Given the description of an element on the screen output the (x, y) to click on. 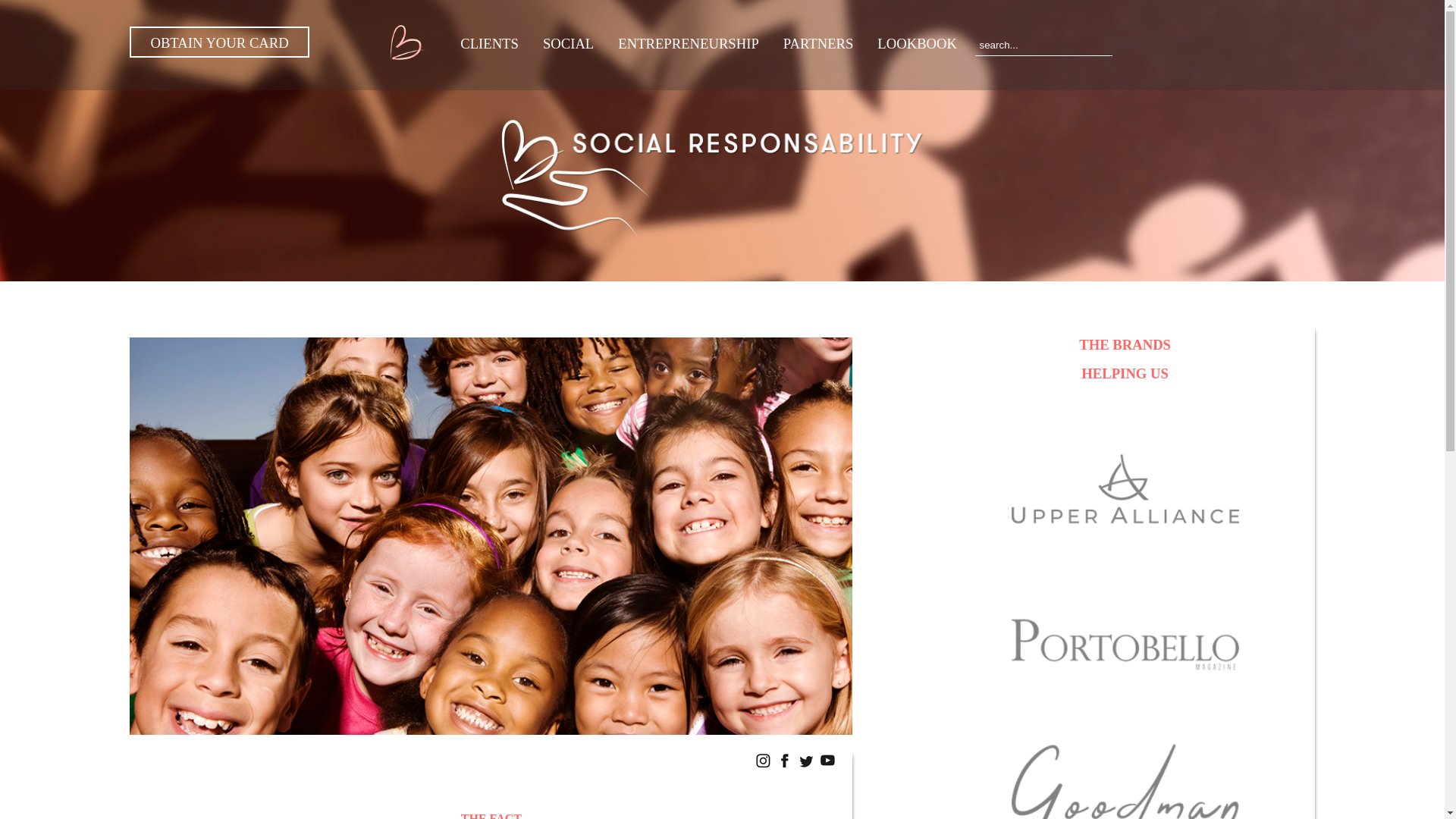
LOOKBOOK (917, 43)
SOCIAL (568, 43)
PARTNERS (818, 43)
OBTAIN YOUR CARD (218, 41)
CLIENTS (489, 43)
ENTREPRENEURSHIP (688, 43)
